Given the description of an element on the screen output the (x, y) to click on. 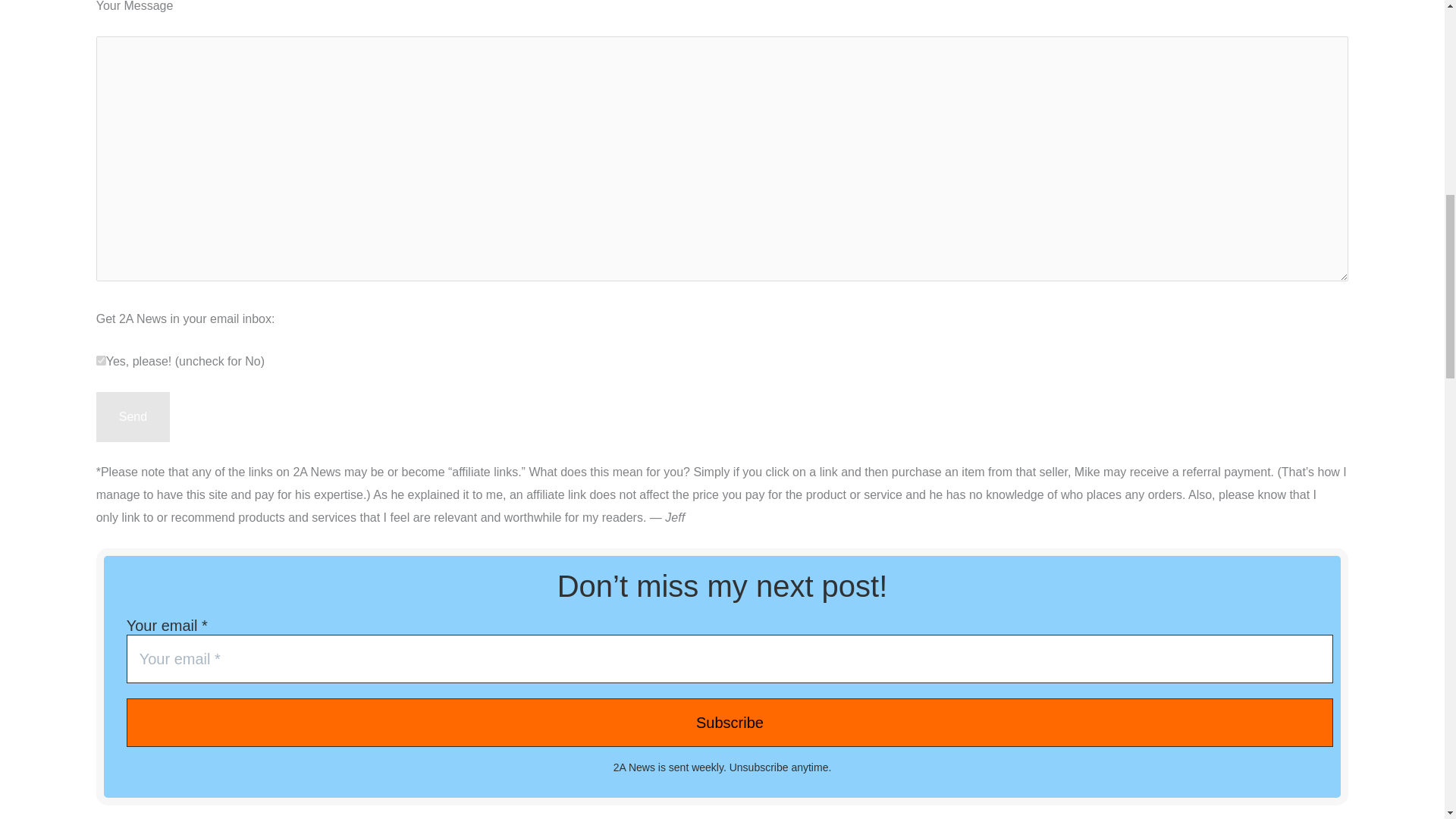
Subscribe (729, 722)
Your email (729, 658)
Send (133, 417)
Send (133, 417)
Subscribe (729, 722)
